Given the description of an element on the screen output the (x, y) to click on. 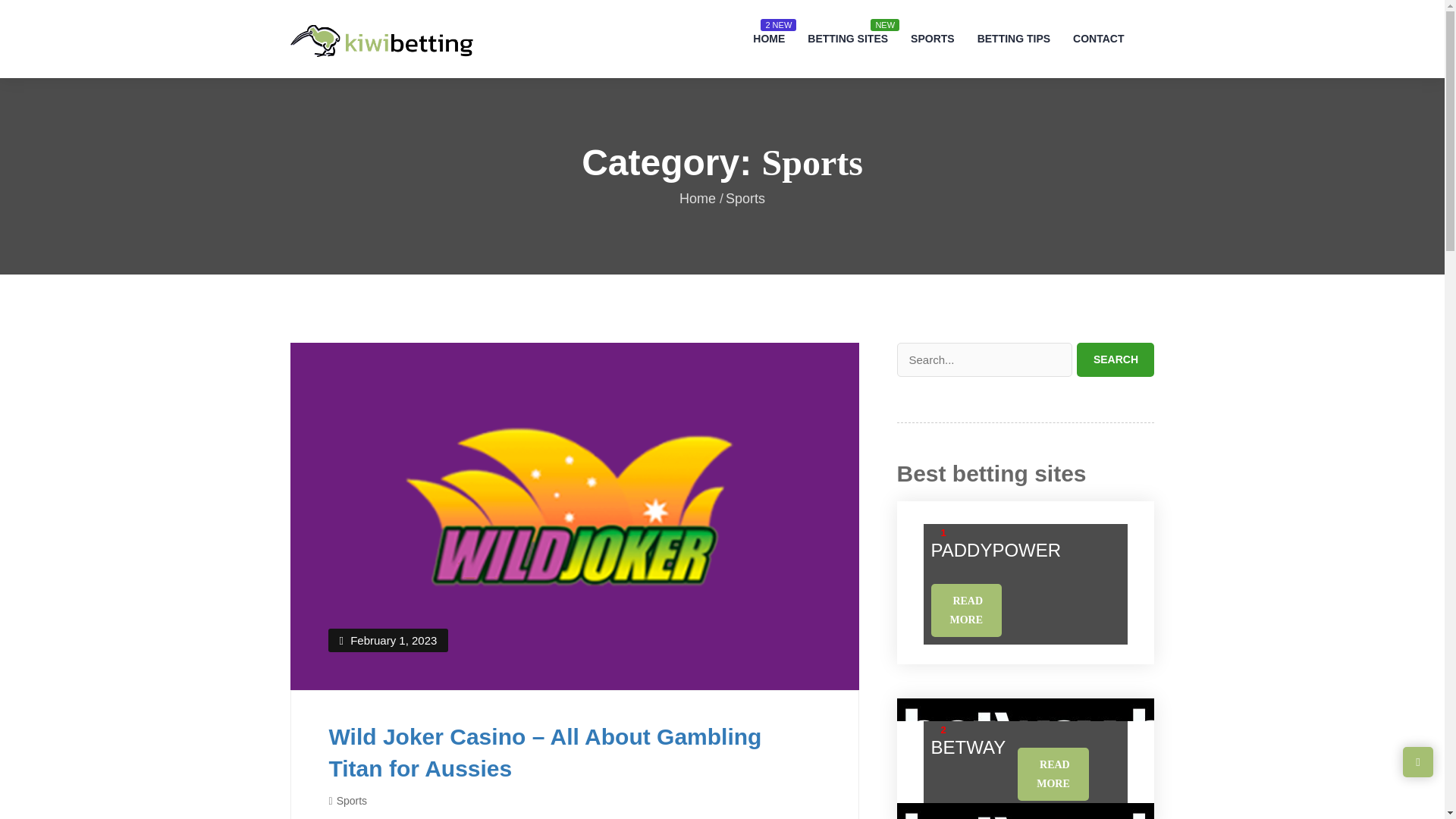
Sports (351, 800)
BETTING SITES (847, 38)
CONTACT (1098, 38)
SPORTS (932, 38)
HOME (768, 38)
SEARCH (1115, 359)
Home (701, 198)
BETTING TIPS (1013, 38)
